Given the description of an element on the screen output the (x, y) to click on. 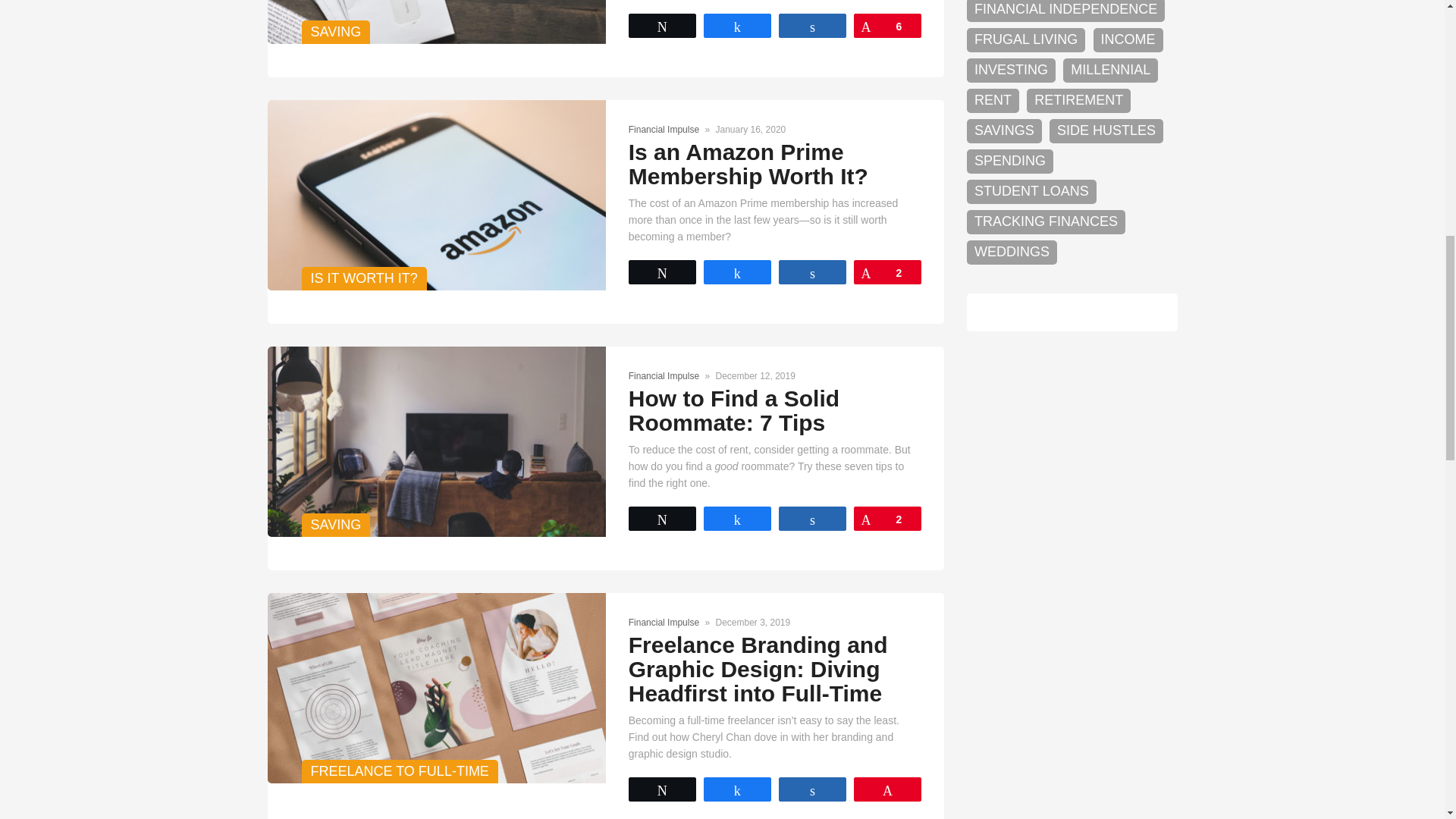
How to Find a Solid Roommate: 7 Tips (734, 409)
Is an Amazon Prime Membership Worth It? (747, 164)
How to Find a Solid Roommate: 7 Tips (435, 441)
6 (887, 25)
Posts by Financial Impulse (663, 129)
Financial Impulse (663, 129)
SAVING (435, 22)
Posts by Financial Impulse (663, 376)
Is an Amazon Prime Membership Worth It? (747, 164)
IS IT WORTH IT? (435, 194)
2 (887, 272)
SAVING (435, 441)
Is an Amazon Prime Membership Worth It? (435, 194)
